Given the description of an element on the screen output the (x, y) to click on. 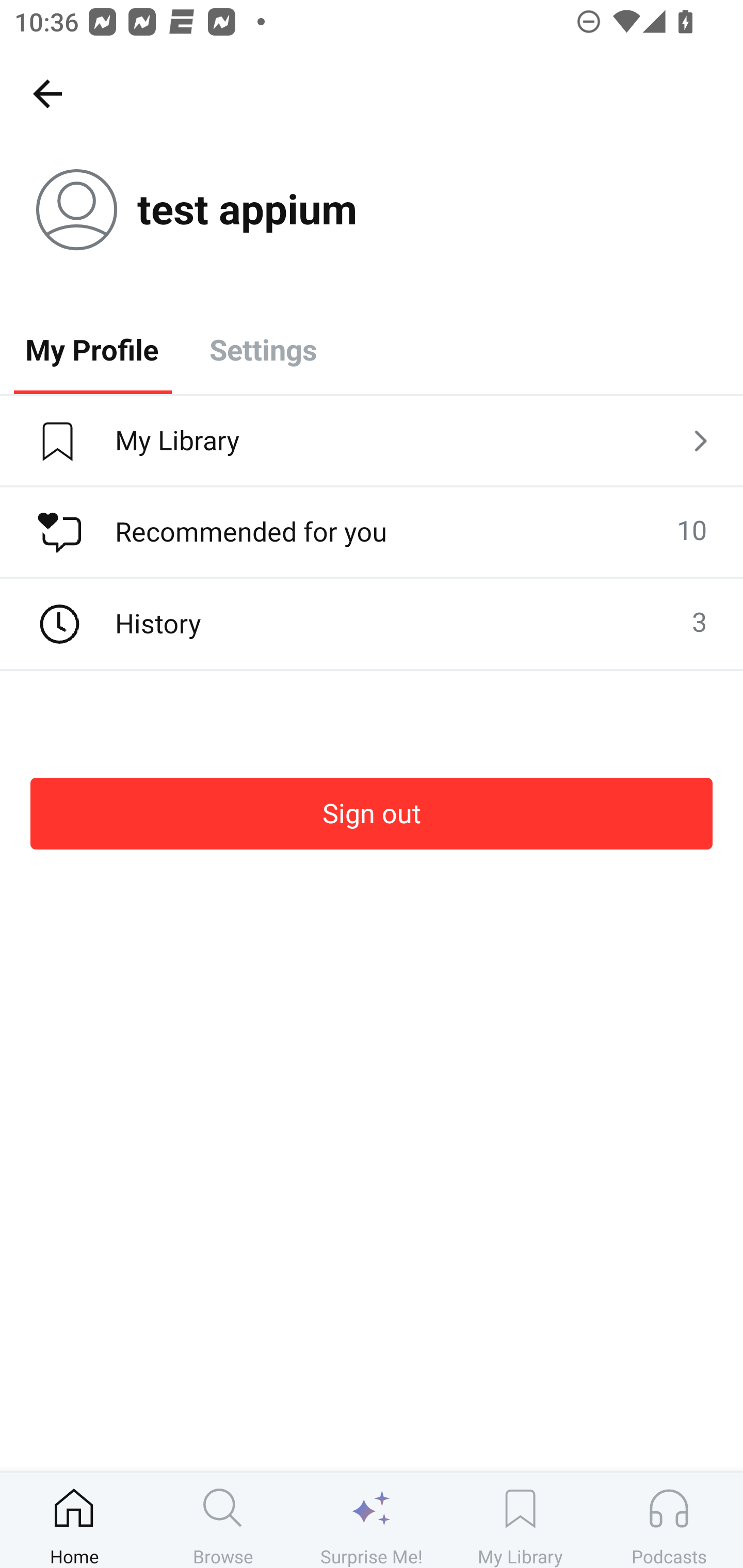
Home, back (47, 92)
My Profile (92, 348)
Settings (263, 348)
My Library (371, 441)
Recommended for you 10 (371, 532)
History 3 (371, 623)
Sign out (371, 813)
Home (74, 1520)
Browse (222, 1520)
Surprise Me! (371, 1520)
My Library (519, 1520)
Podcasts (668, 1520)
